Given the description of an element on the screen output the (x, y) to click on. 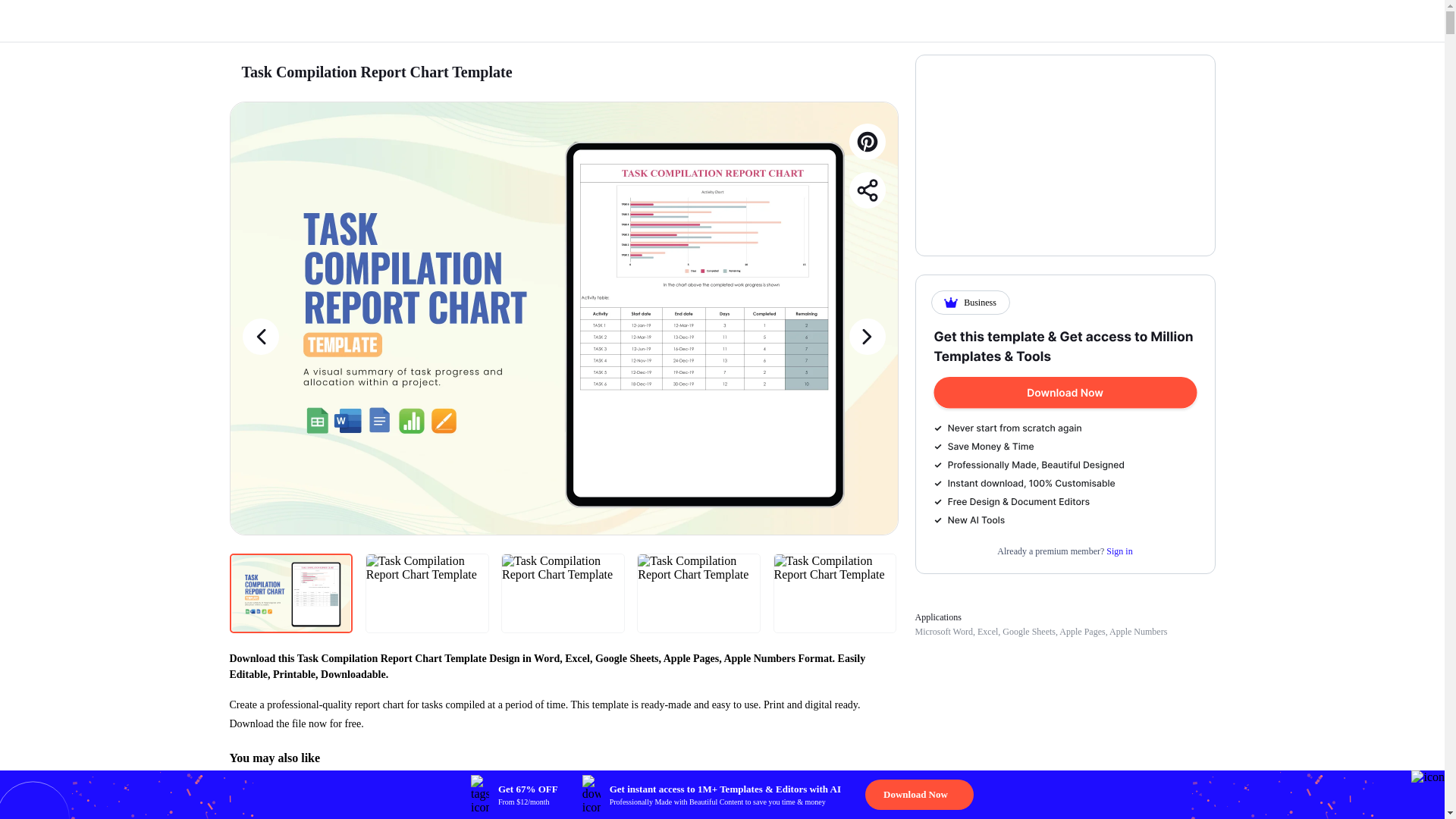
, Excel (984, 631)
Banner Pricing Bundle (1065, 427)
Microsoft Word (943, 631)
, Apple Pages (1080, 631)
, Apple Numbers (1136, 631)
, Google Sheets (1026, 631)
